Given the description of an element on the screen output the (x, y) to click on. 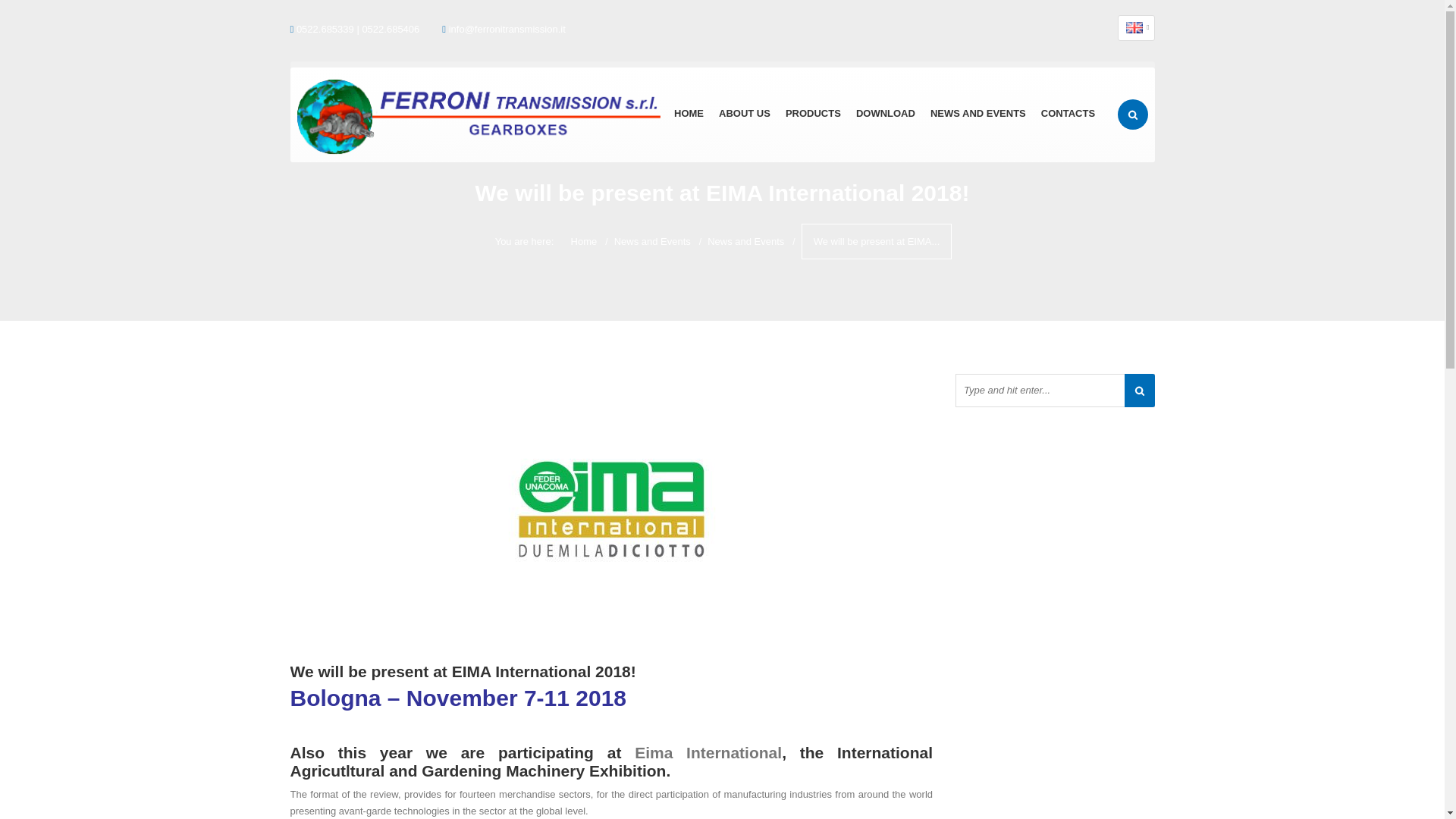
CONTACTS (1067, 114)
DOWNLOAD (885, 114)
News and Events (652, 241)
Home (583, 241)
PRODUCTS (812, 114)
NEWS AND EVENTS (978, 114)
ABOUT US (744, 114)
